Given the description of an element on the screen output the (x, y) to click on. 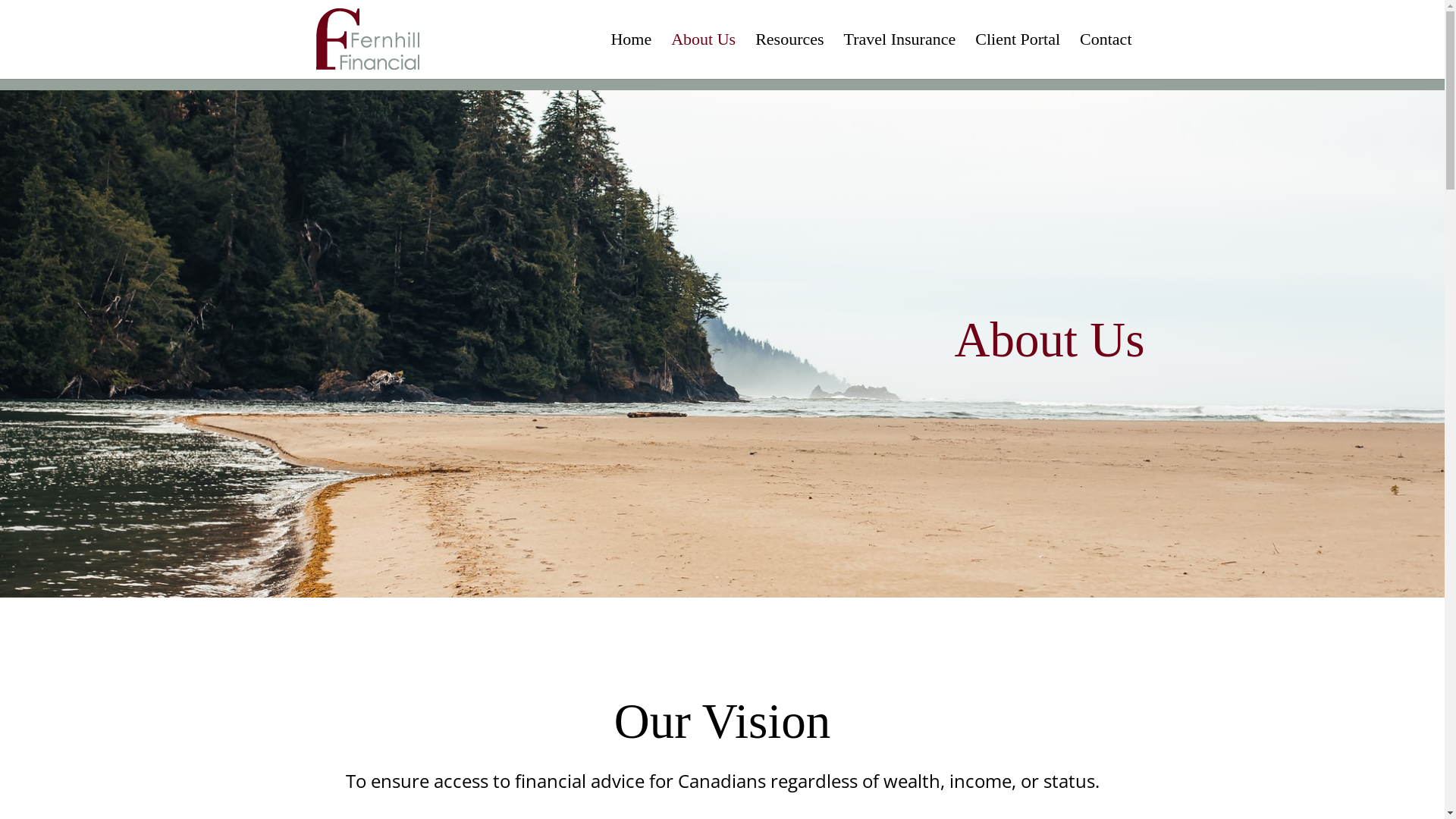
Home Element type: text (630, 56)
Client Portal Element type: text (1017, 56)
About Us Element type: text (703, 56)
Resources Element type: text (789, 56)
Travel Insurance Element type: text (900, 56)
Contact Element type: text (1105, 56)
